Given the description of an element on the screen output the (x, y) to click on. 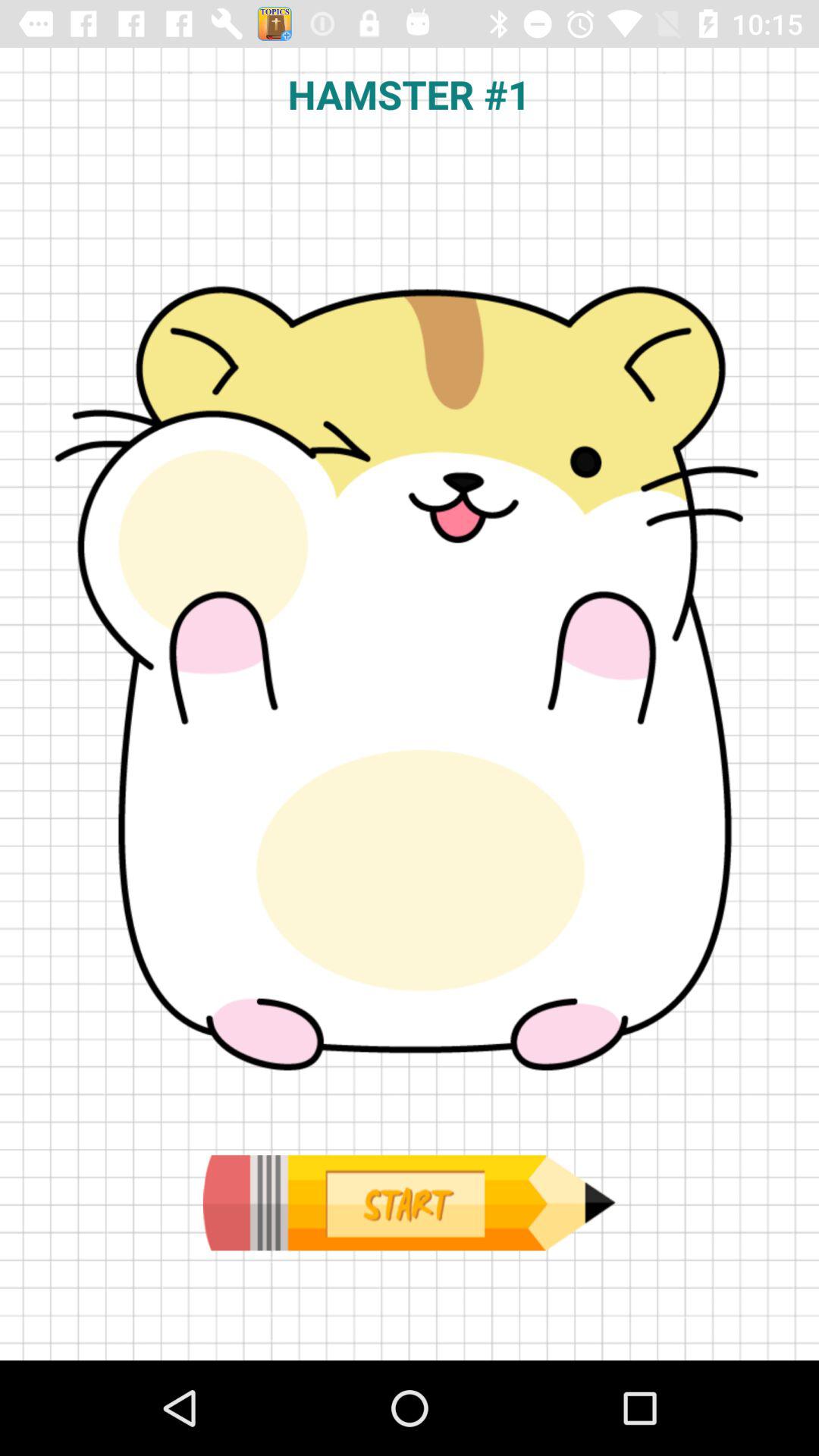
go to start button (409, 1202)
